Given the description of an element on the screen output the (x, y) to click on. 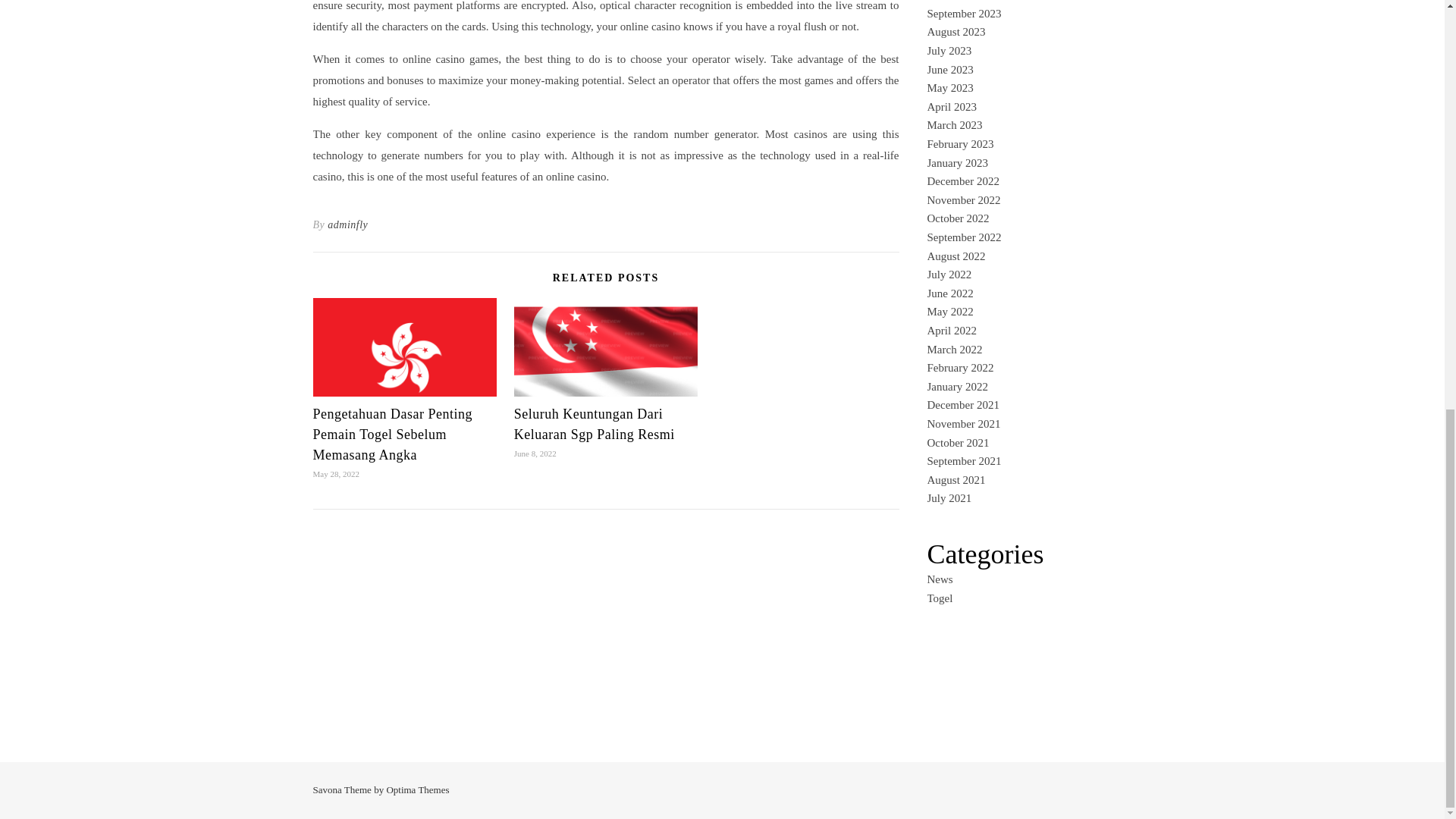
March 2023 (953, 124)
Seluruh Keuntungan Dari Keluaran Sgp Paling Resmi (594, 424)
July 2023 (948, 50)
April 2023 (950, 106)
December 2022 (962, 181)
June 2023 (949, 69)
January 2023 (956, 162)
October 2023 (957, 0)
May 2023 (949, 87)
Posts by adminfly (347, 224)
September 2023 (963, 13)
adminfly (347, 224)
February 2023 (959, 143)
August 2023 (955, 31)
